Given the description of an element on the screen output the (x, y) to click on. 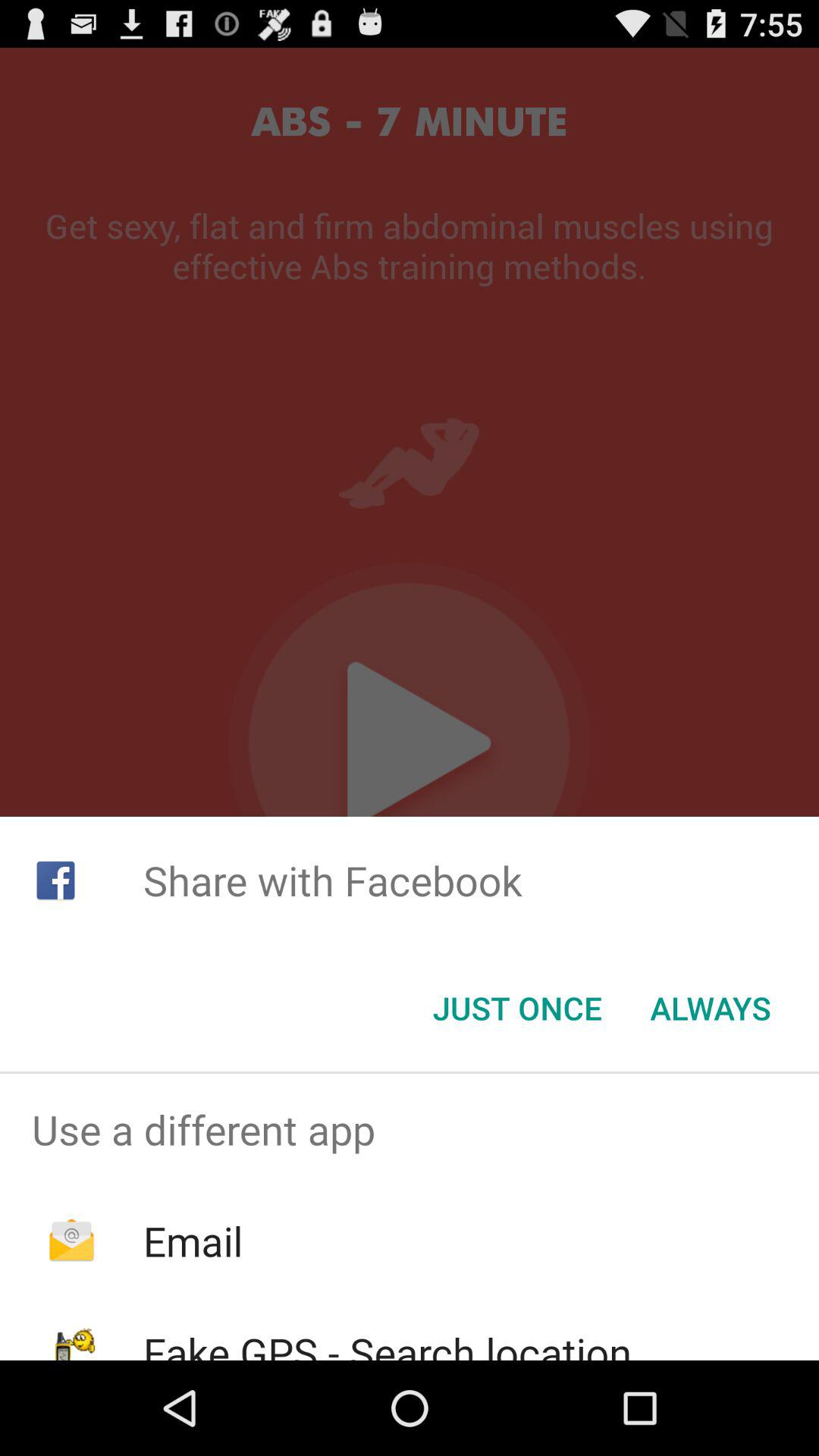
flip to use a different item (409, 1129)
